Given the description of an element on the screen output the (x, y) to click on. 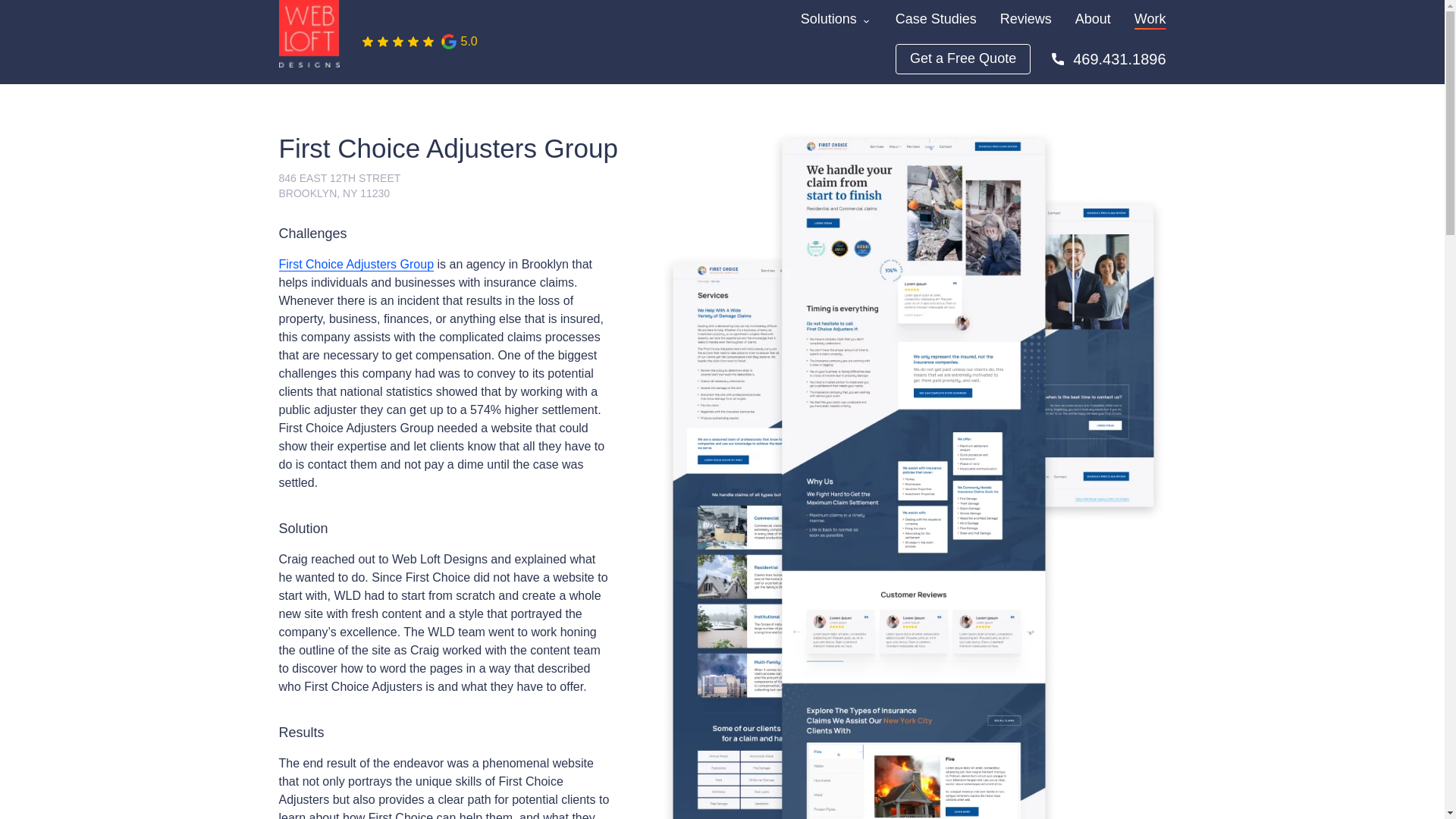
About (1092, 18)
Case Studies (935, 18)
First Choice Adjusters Group (356, 264)
Work (1150, 18)
Reviews (1025, 18)
Get a Free Quote (962, 59)
469.431.1896 (1107, 58)
Solutions (828, 18)
